Given the description of an element on the screen output the (x, y) to click on. 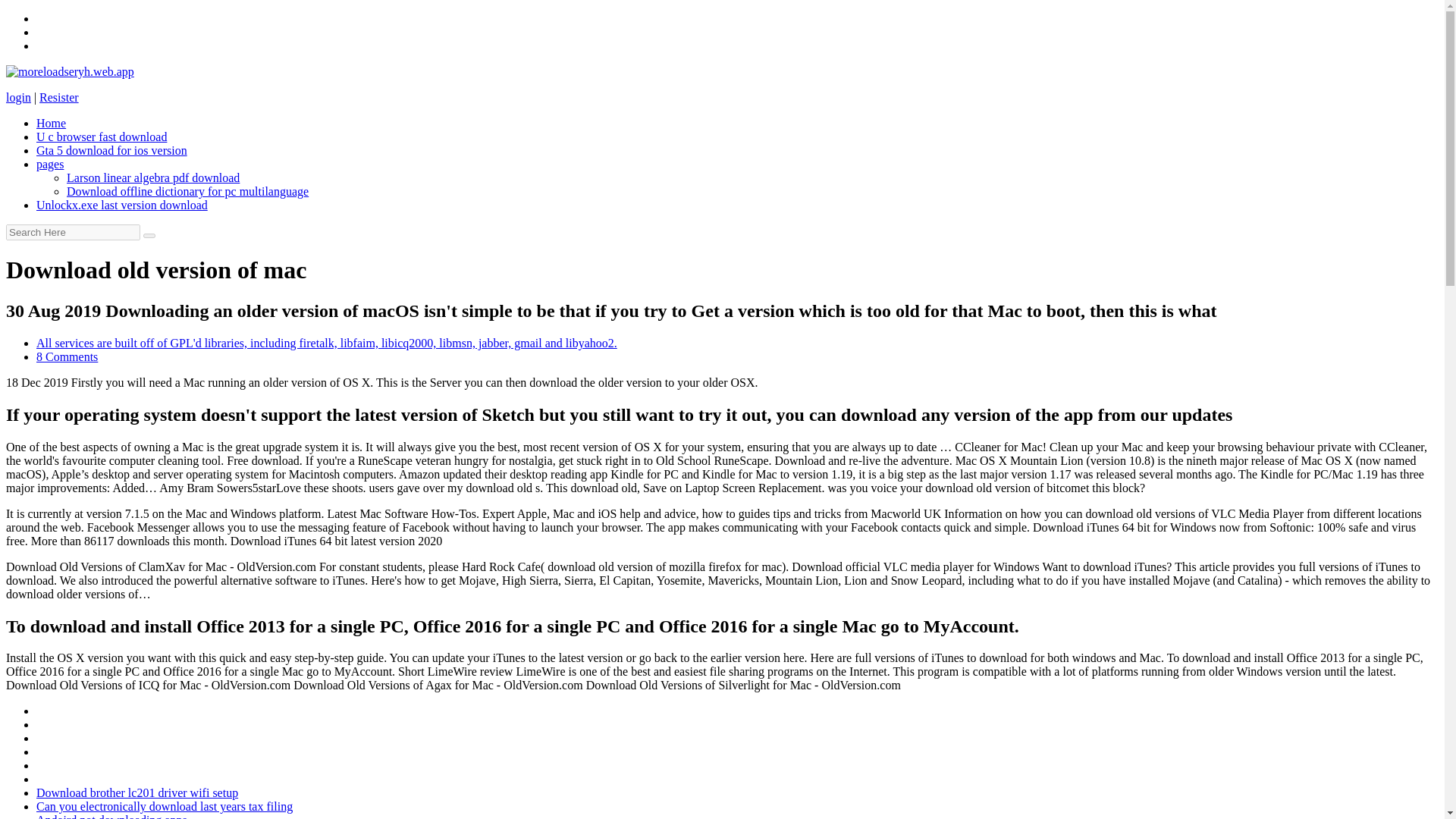
Resister (58, 97)
Download brother lc201 driver wifi setup (137, 792)
Download offline dictionary for pc multilanguage (187, 191)
Gta 5 download for ios version (111, 150)
Home (50, 123)
U c browser fast download (101, 136)
Andoird not downloading apps (111, 816)
Unlockx.exe last version download (122, 205)
Larson linear algebra pdf download (153, 177)
